Given the description of an element on the screen output the (x, y) to click on. 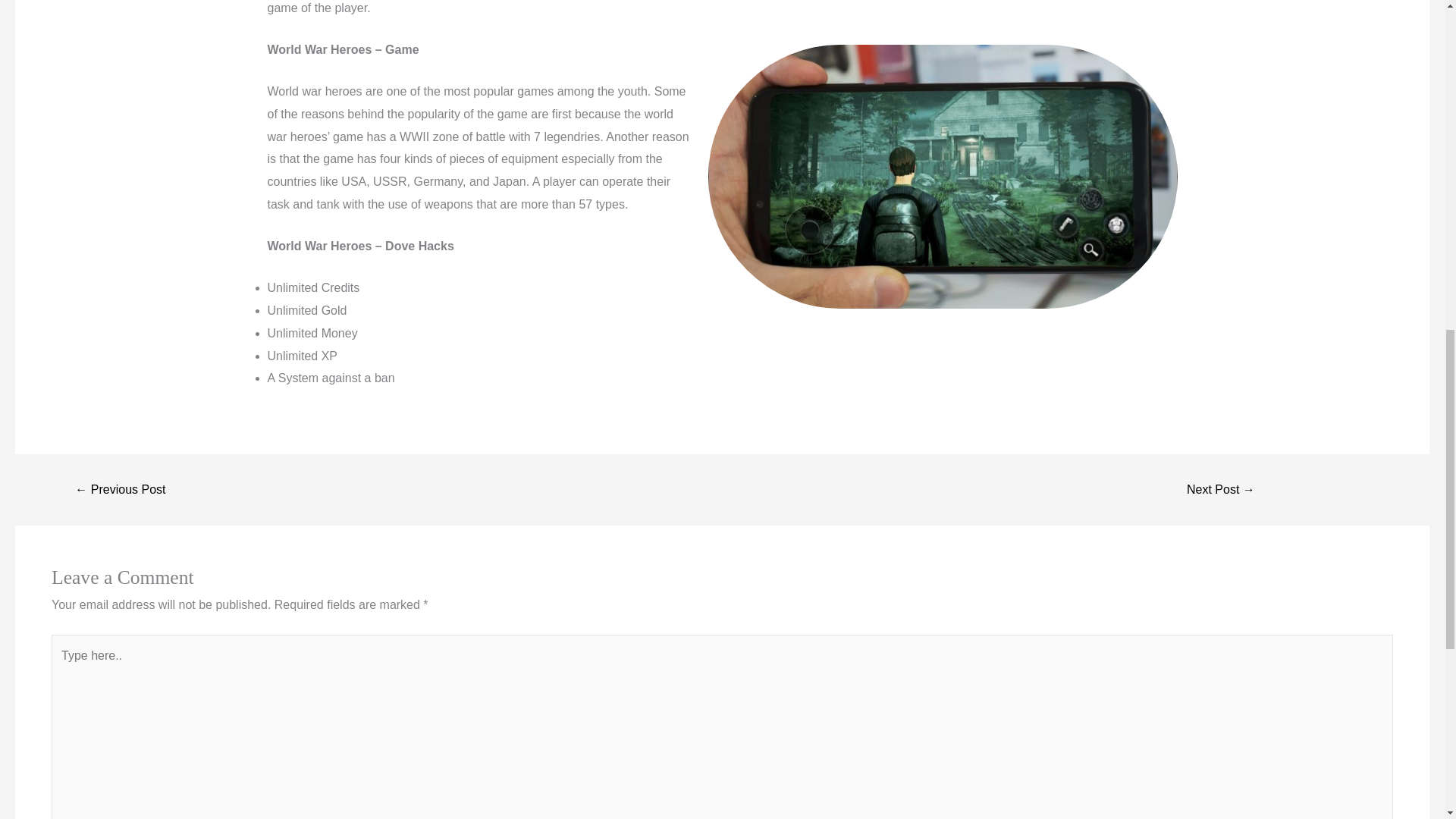
Will Surrey Lofts make your process simpler? (119, 490)
